Given the description of an element on the screen output the (x, y) to click on. 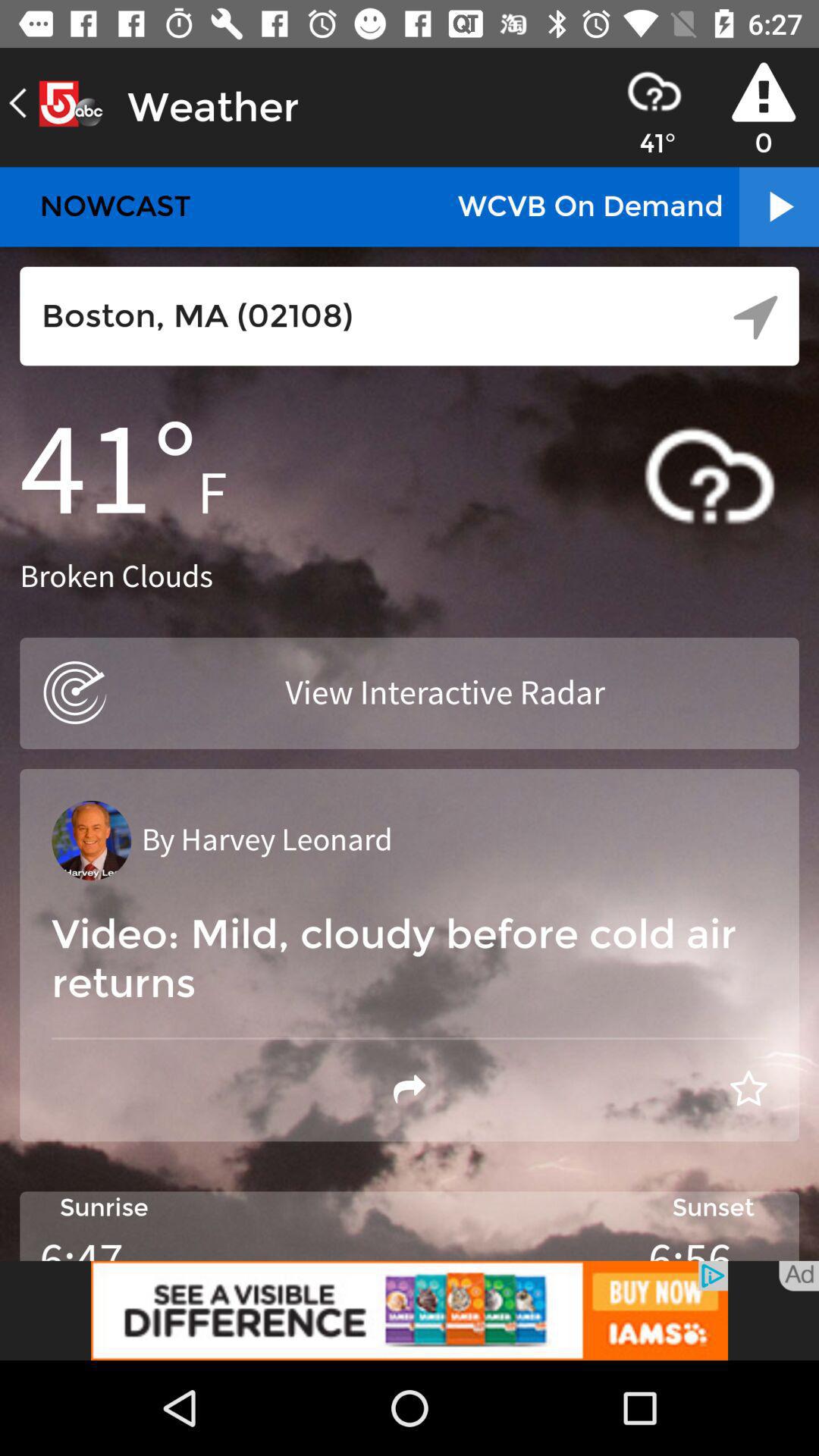
advertisement link image (409, 1310)
